Given the description of an element on the screen output the (x, y) to click on. 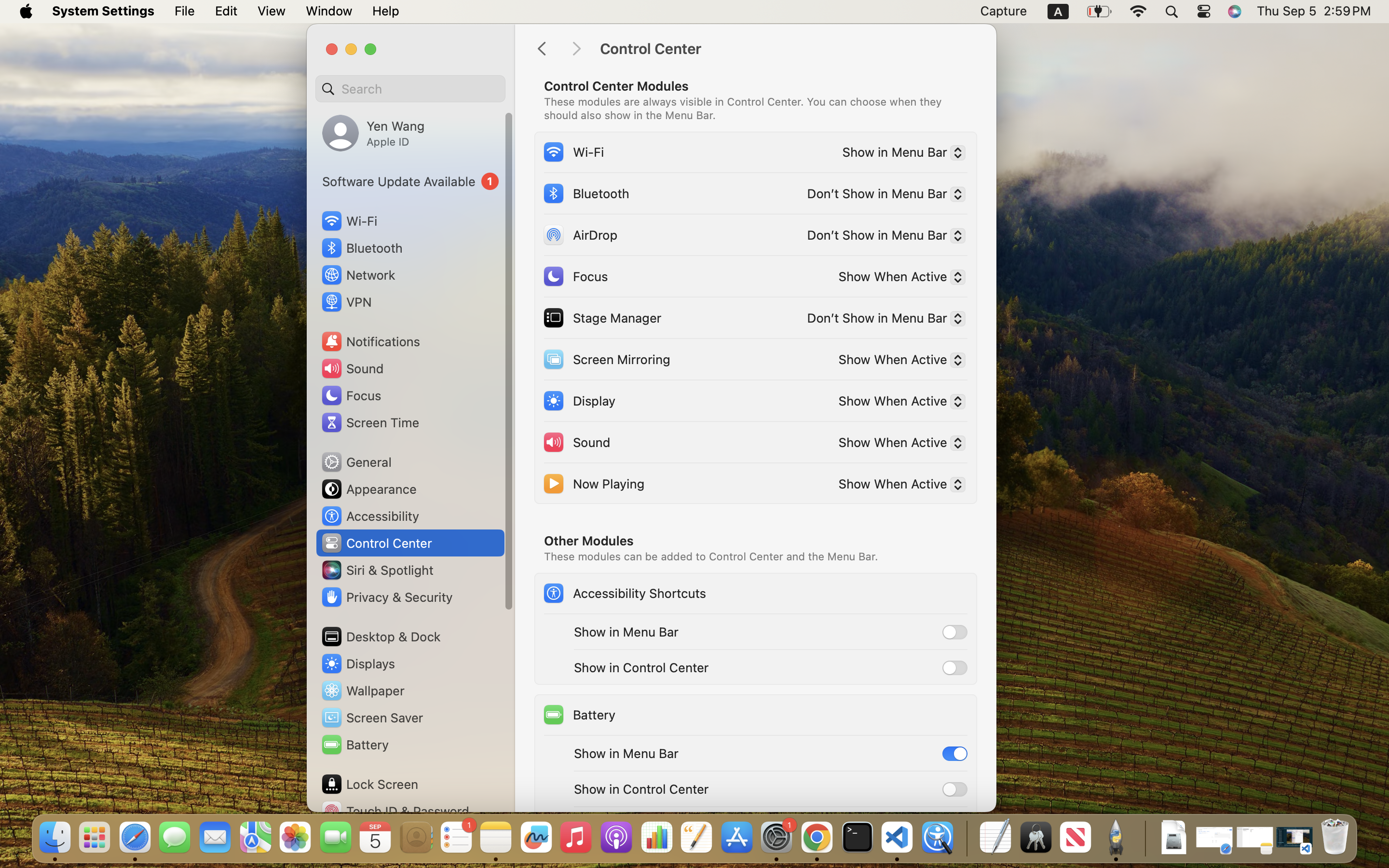
Screen Time Element type: AXStaticText (369, 422)
Show in Menu Bar Element type: AXStaticText (626, 631)
Appearance Element type: AXStaticText (368, 488)
Accessibility Shortcuts Element type: AXStaticText (624, 592)
Displays Element type: AXStaticText (357, 663)
